Given the description of an element on the screen output the (x, y) to click on. 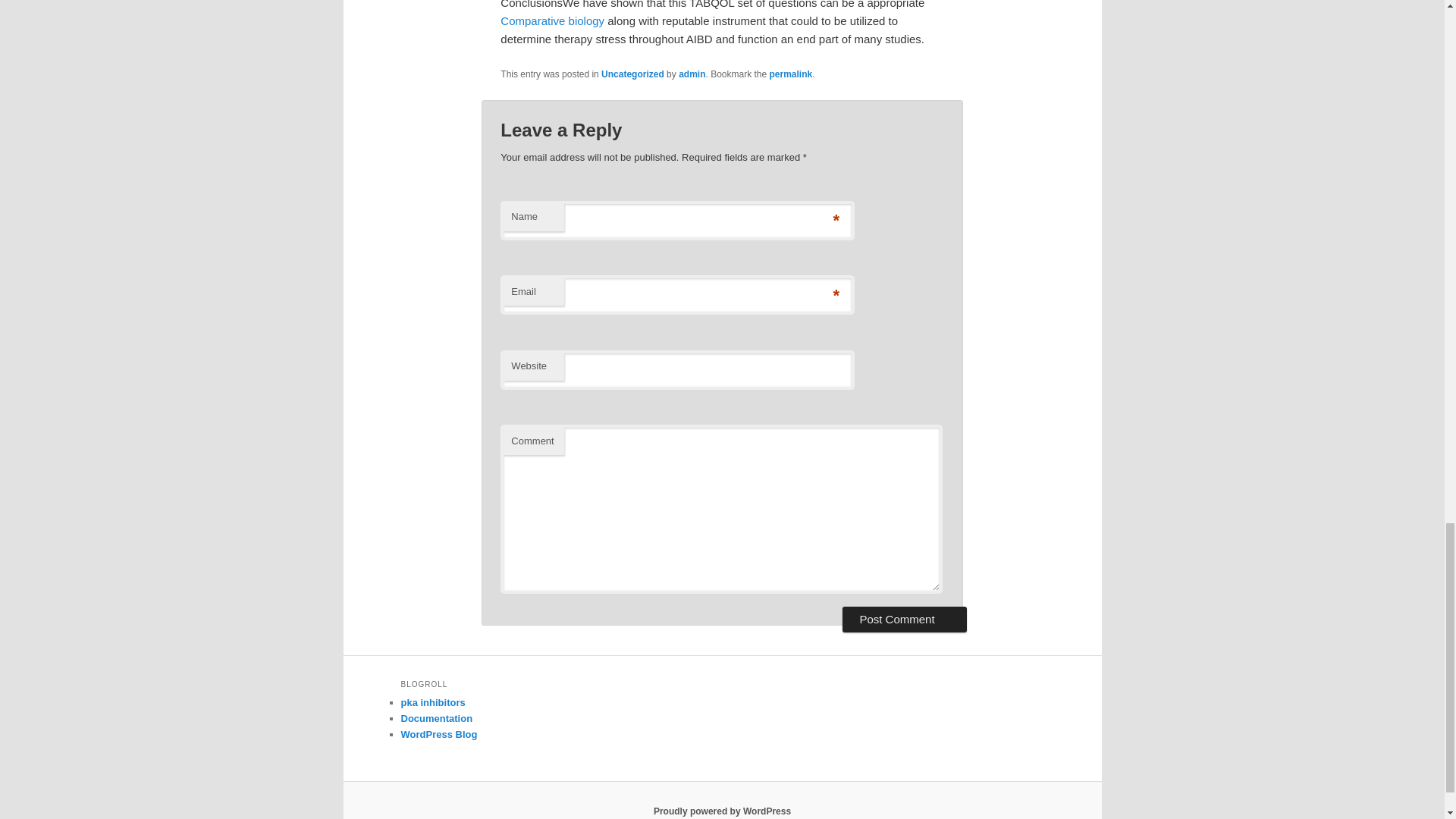
Proudly powered by WordPress (721, 810)
pka inhibitors (432, 702)
Post Comment (904, 619)
View all posts in Uncategorized (632, 73)
Comparative biology (552, 20)
Semantic Personal Publishing Platform (721, 810)
admin (691, 73)
Uncategorized (632, 73)
Documentation (435, 717)
Post Comment (904, 619)
WordPress Blog (438, 734)
permalink (791, 73)
